Given the description of an element on the screen output the (x, y) to click on. 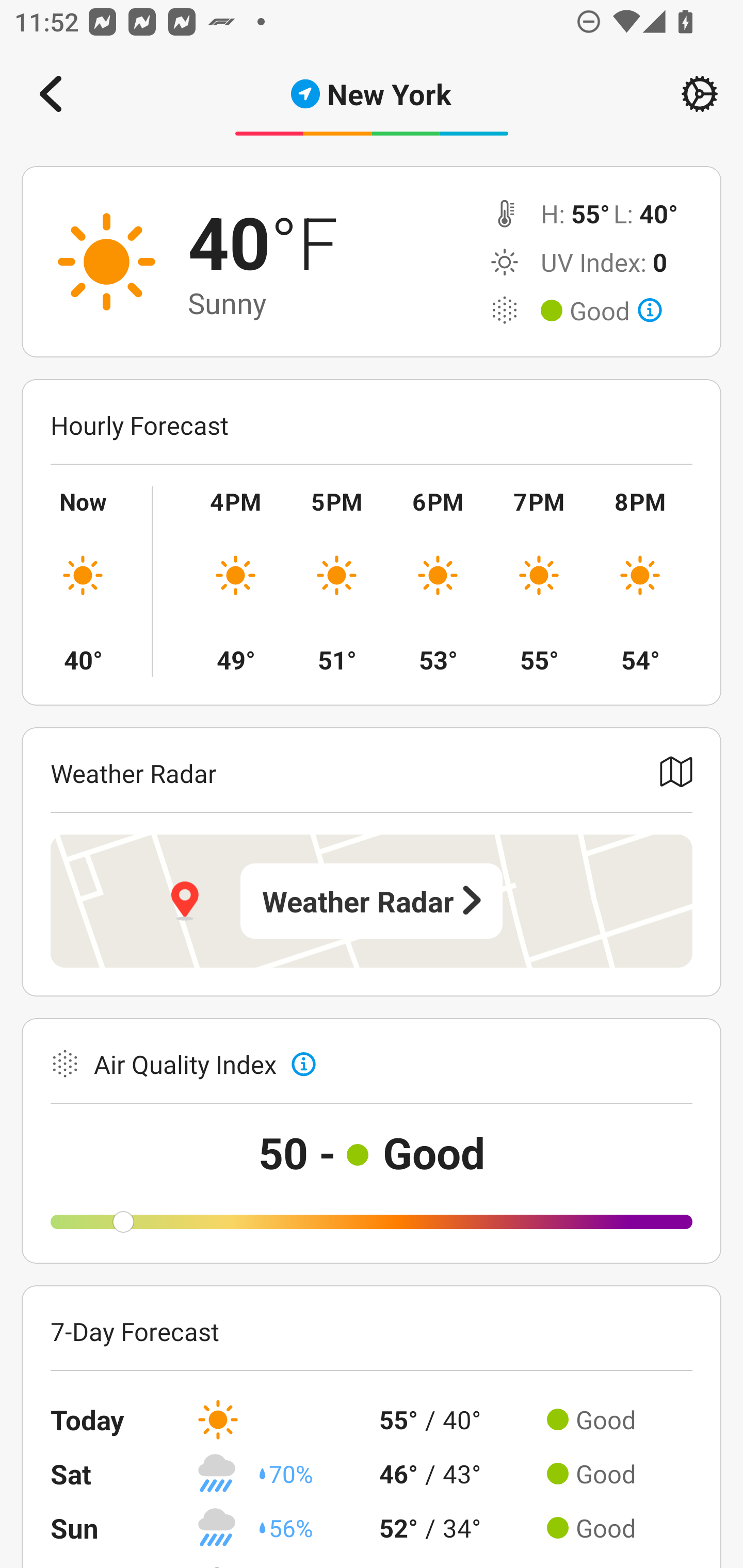
Navigate up (50, 93)
Setting (699, 93)
Good (615, 310)
Weather Radar (371, 900)
